Given the description of an element on the screen output the (x, y) to click on. 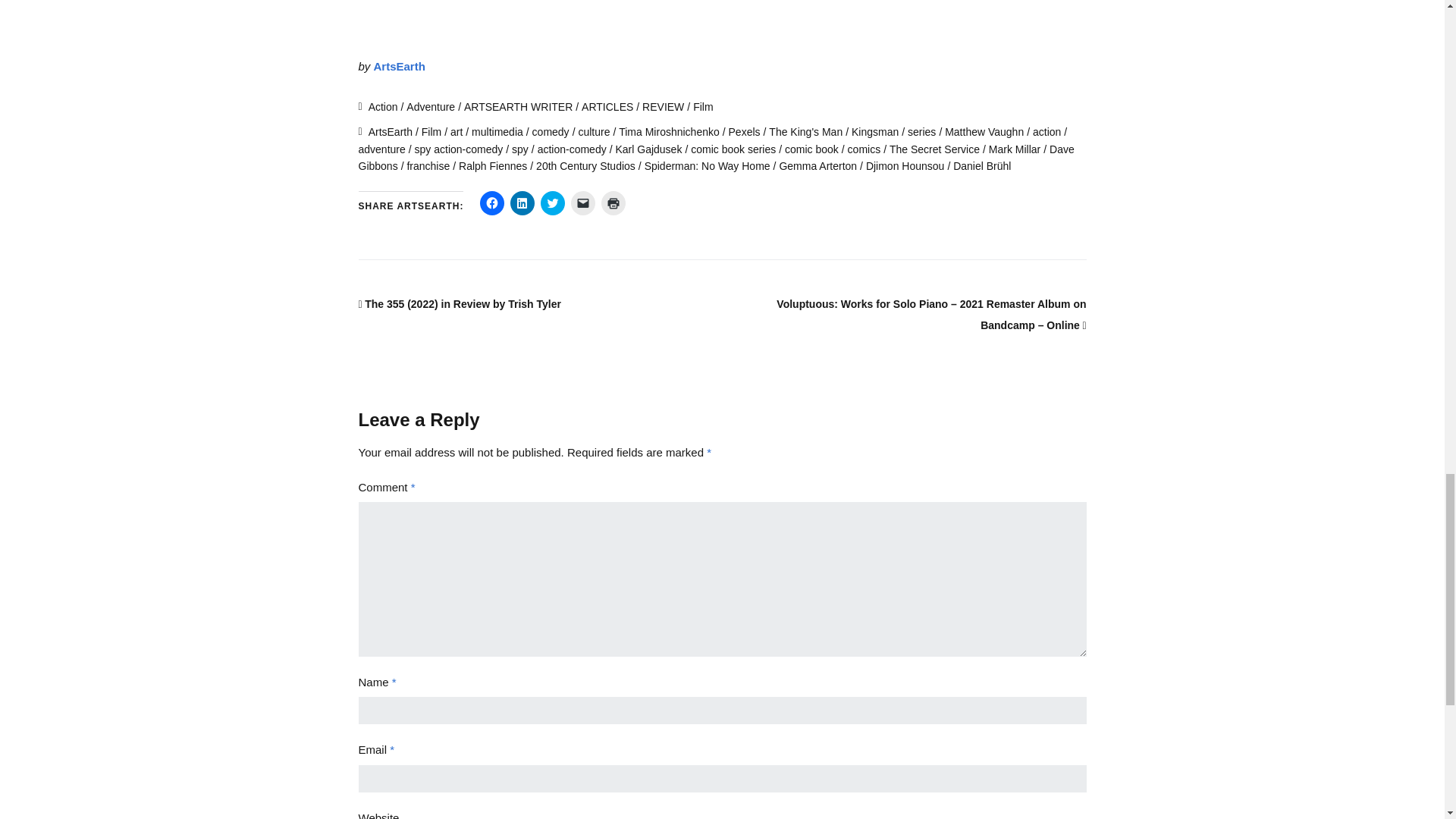
Click to email a link to a friend (582, 202)
ARTICLES (606, 106)
REVIEW (663, 106)
Film (703, 106)
ARTSEARTH WRITER (518, 106)
Click to share on Facebook (491, 202)
Click to print (613, 202)
ArtsEarth (399, 65)
Click to share on LinkedIn (522, 202)
Action (382, 106)
